Given the description of an element on the screen output the (x, y) to click on. 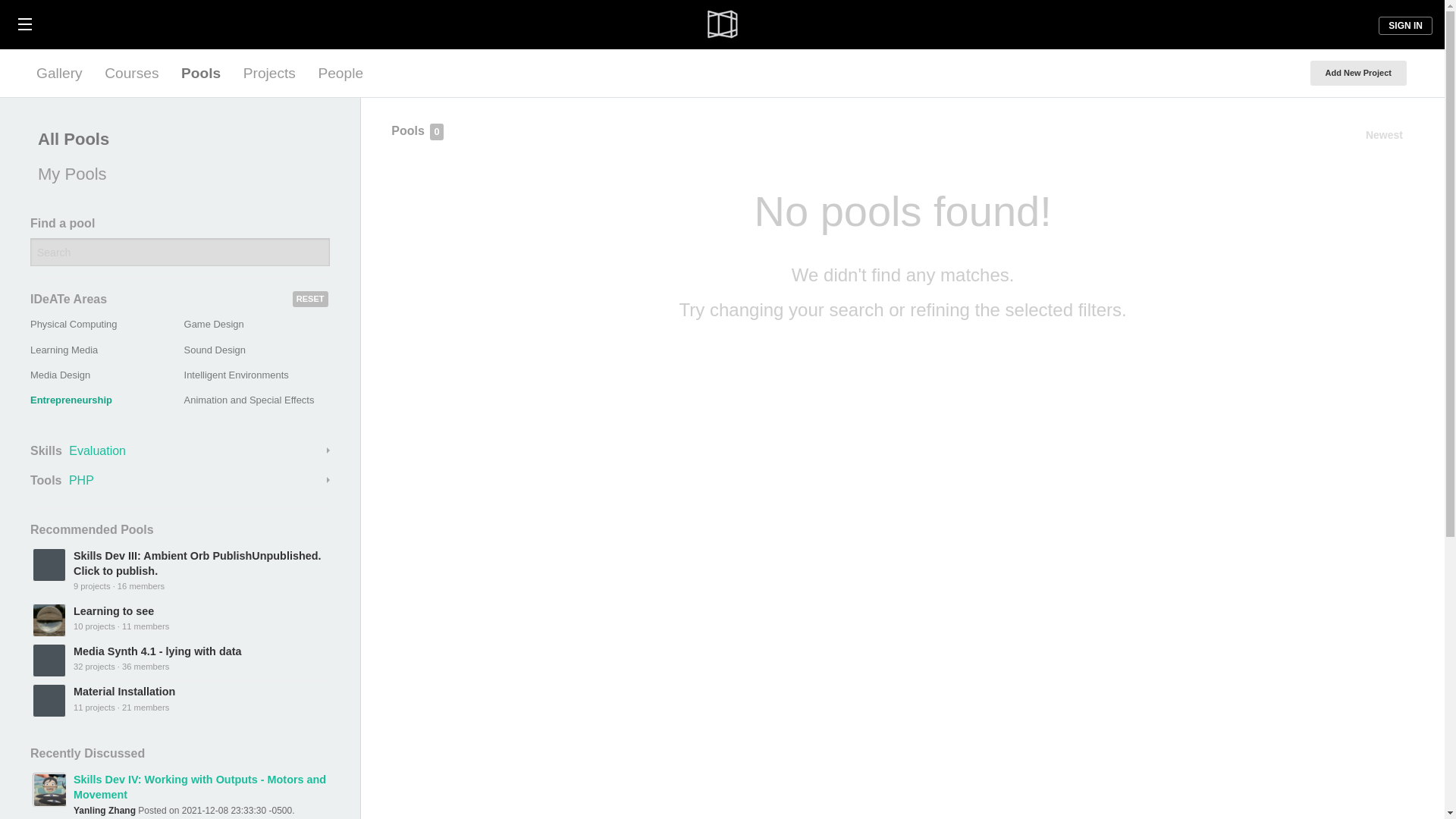
Gallery (59, 73)
Add New Project (1358, 72)
My Pools (175, 174)
All Pools (175, 139)
Courses (131, 73)
Physical Computing (73, 324)
SIGN IN (1405, 25)
Animation and Special Effects (249, 399)
Skills Evaluation (180, 451)
Projects (268, 73)
